Given the description of an element on the screen output the (x, y) to click on. 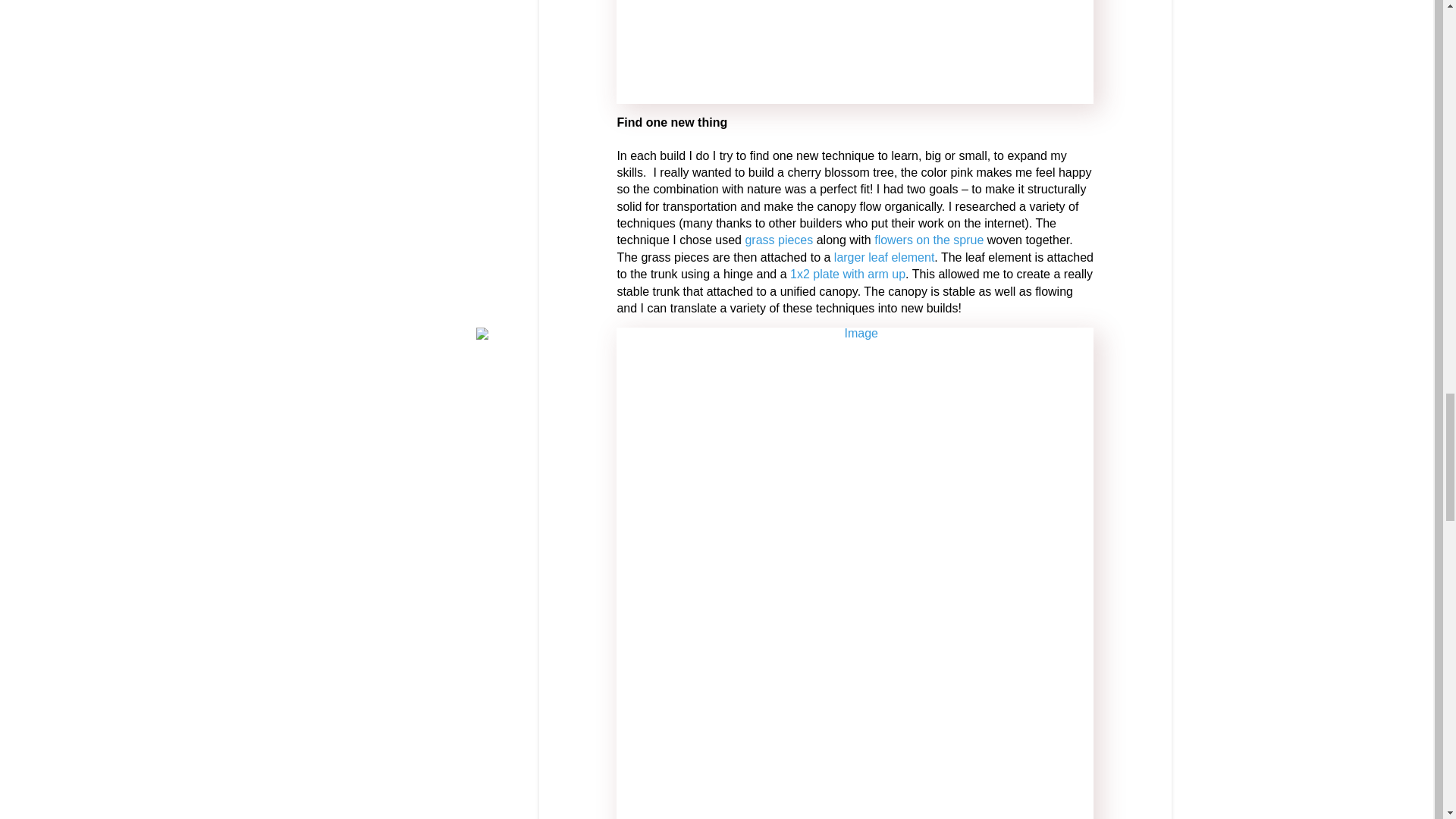
grass pieces (778, 239)
flowers on the sprue (929, 239)
larger leaf element (884, 256)
1x2 plate with arm up (847, 273)
